Given the description of an element on the screen output the (x, y) to click on. 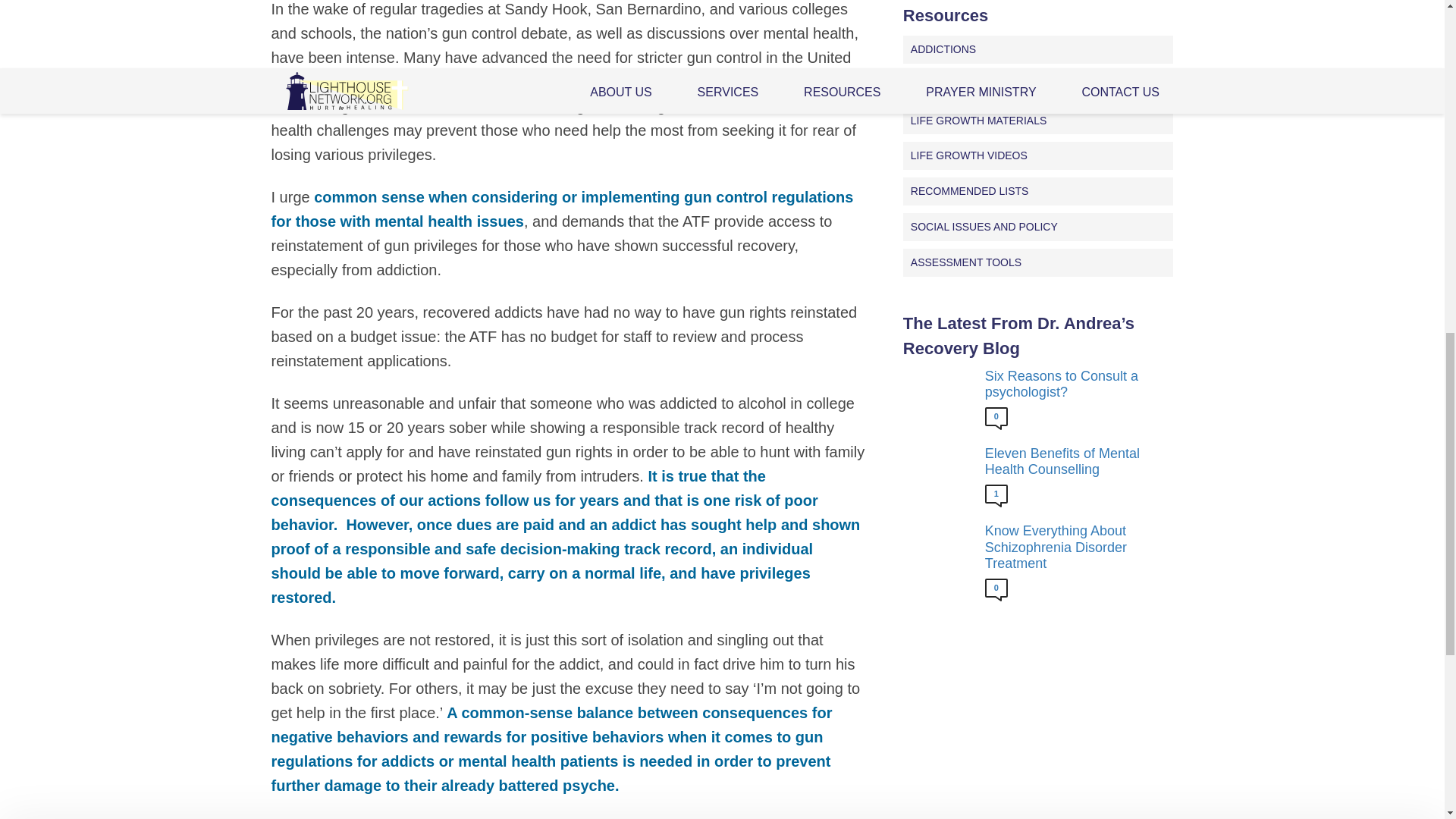
Eleven Benefits of Mental Health Counselling (1075, 461)
Know Everything About Schizophrenia Disorder Treatment (1075, 547)
Six Reasons to Consult a psychologist? (1075, 384)
